Given the description of an element on the screen output the (x, y) to click on. 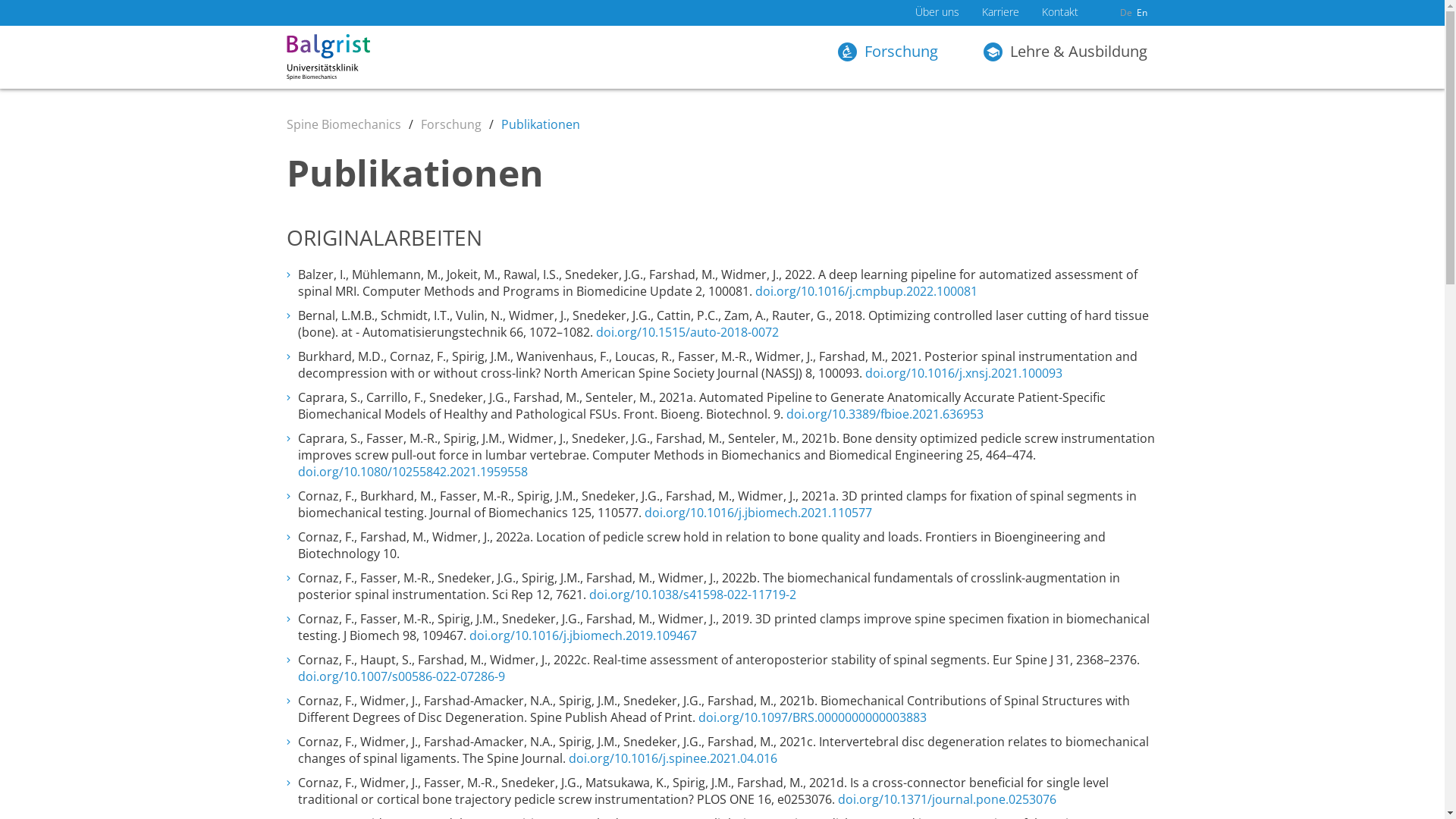
Kontakt Element type: text (1059, 14)
Spine Biomechanics Element type: text (343, 124)
doi.org/10.3389/fbioe.2021.636953 Element type: text (883, 413)
doi.org/10.1016/j.jbiomech.2019.109467 Element type: text (582, 635)
doi.org/10.1515/auto-2018-0072 Element type: text (687, 331)
doi.org/10.1016/j.cmpbup.2022.100081 Element type: text (866, 290)
Lehre & Ausbildung Element type: text (1064, 57)
doi.org/10.1016/j.jbiomech.2021.110577 Element type: text (758, 512)
De Element type: text (1125, 12)
doi.org/10.1371/journal.pone.0253076 Element type: text (946, 798)
Forschung Element type: text (894, 57)
doi.org/10.1097/BRS.0000000000003883 Element type: text (811, 717)
En Element type: text (1140, 12)
doi.org/10.1016/j.xnsj.2021.100093 Element type: text (962, 372)
doi.org/10.1016/j.spinee.2021.04.016 Element type: text (672, 757)
Karriere Element type: text (999, 14)
Forschung Element type: text (450, 124)
doi.org/10.1080/10255842.2021.1959558 Element type: text (412, 471)
doi.org/10.1007/s00586-022-07286-9 Element type: text (400, 676)
doi.org/10.1038/s41598-022-11719-2 Element type: text (691, 594)
